Given the description of an element on the screen output the (x, y) to click on. 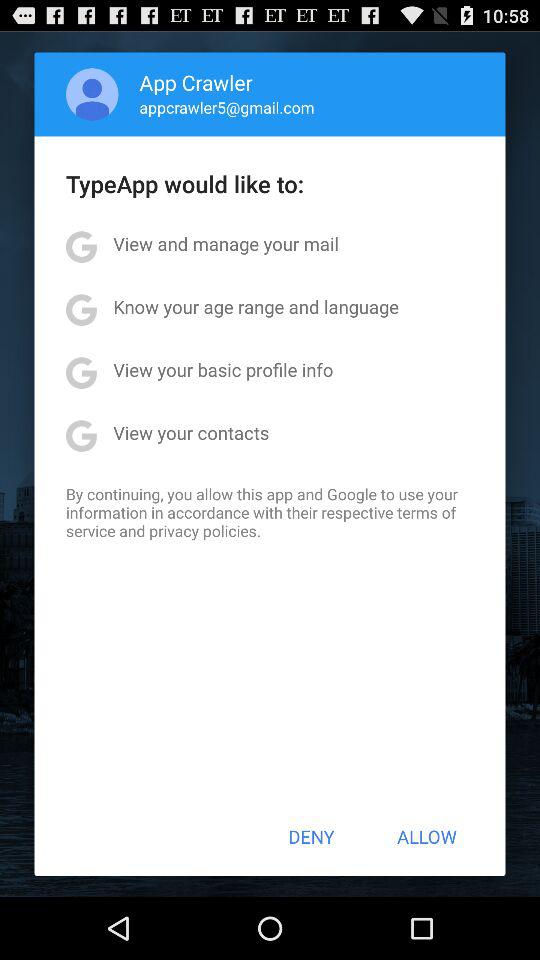
tap item at the bottom (311, 836)
